Given the description of an element on the screen output the (x, y) to click on. 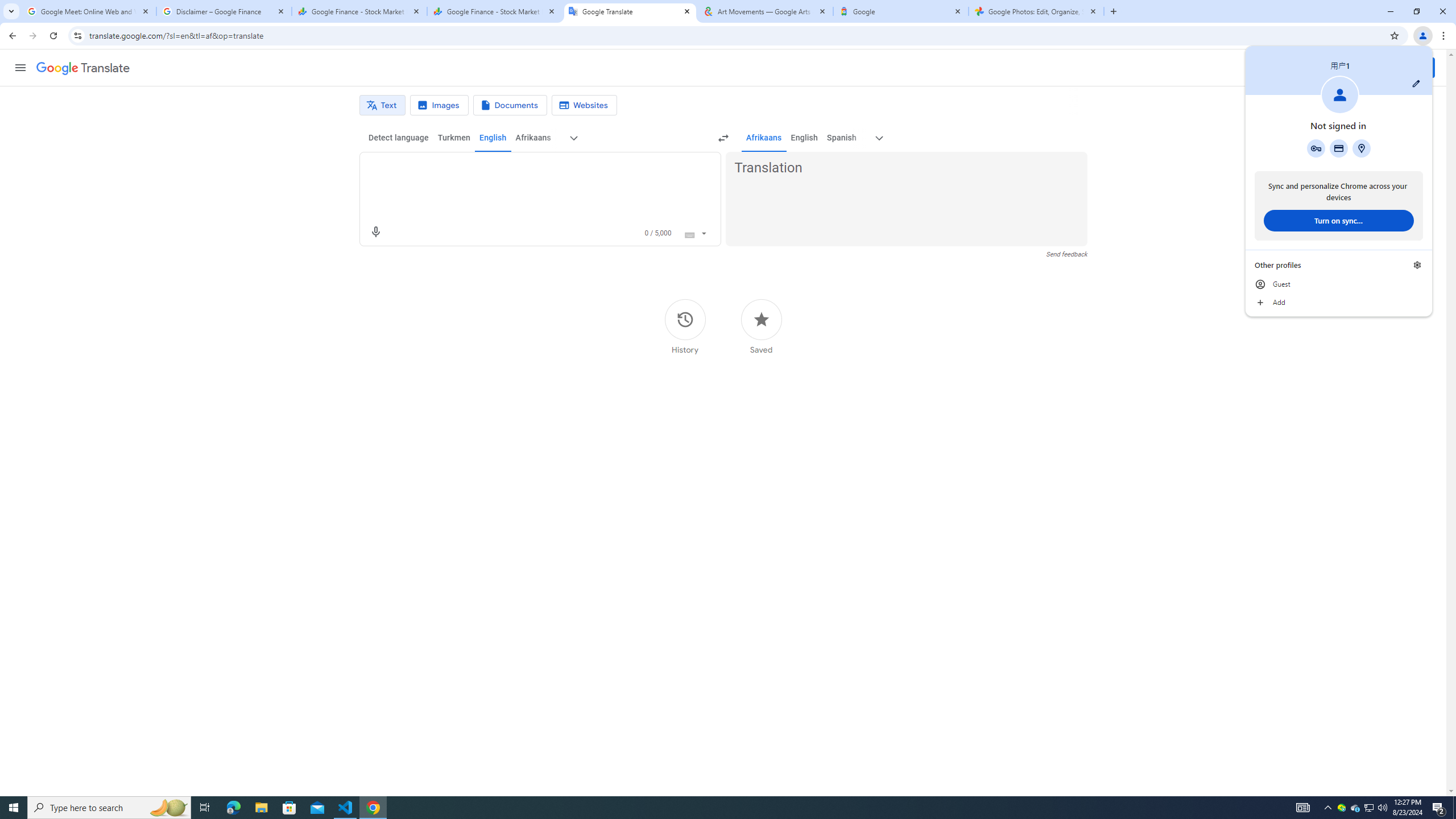
Send feedback (1066, 253)
AutomationID: 4105 (1303, 807)
Guest (1338, 284)
Microsoft Store (289, 807)
Running applications (710, 807)
More source languages (573, 137)
Addresses and more (1368, 807)
User Promoted Notification Area (1361, 148)
Payment methods (1368, 807)
